Given the description of an element on the screen output the (x, y) to click on. 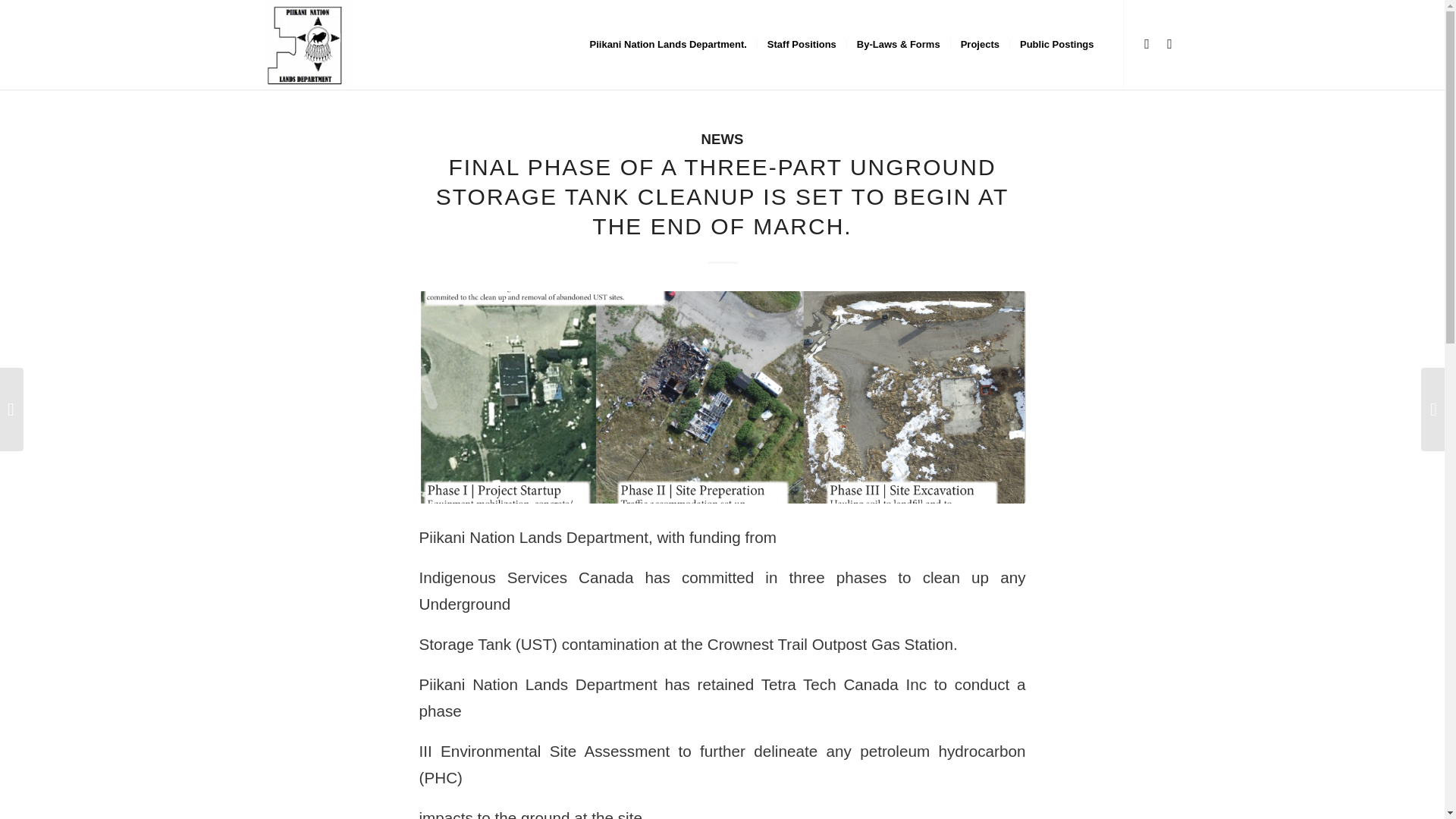
NEWS (722, 139)
Screen Shot 2023-03-14 at 1.15.48 PM (722, 397)
Piikani Nation Lands Department. (668, 44)
Twitter (1169, 43)
Public Postings (1056, 44)
Facebook (1146, 43)
Staff Positions (801, 44)
